Given the description of an element on the screen output the (x, y) to click on. 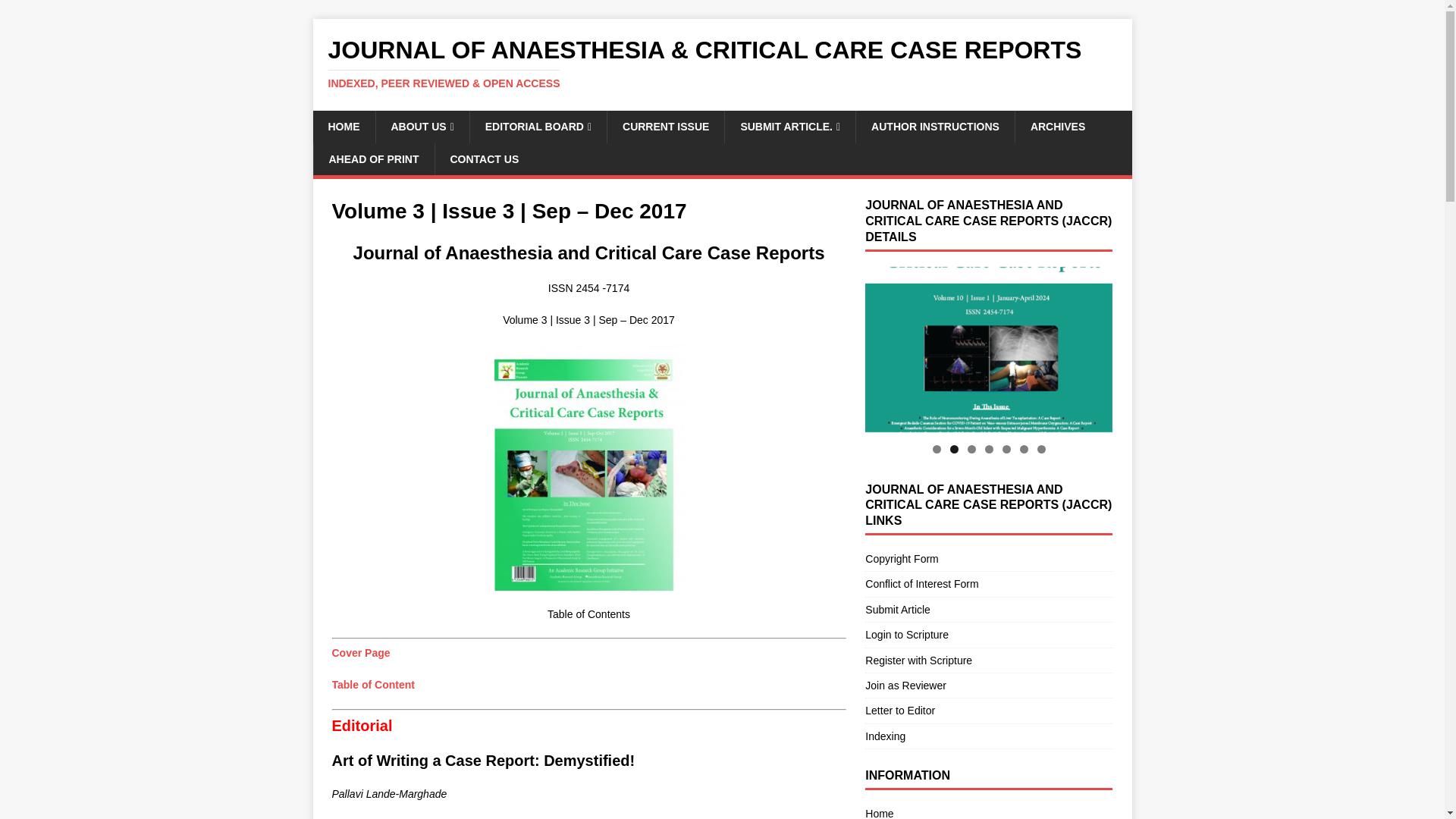
jan 2024 jaccr (988, 349)
ARCHIVES (1057, 126)
CONTACT US (483, 159)
Table of Content (372, 684)
HOME (343, 126)
EDITORIAL BOARD (537, 126)
Cover Page (360, 653)
AHEAD OF PRINT (373, 159)
AUTHOR INSTRUCTIONS (935, 126)
SUBMIT ARTICLE. (789, 126)
CURRENT ISSUE (665, 126)
ABOUT US (421, 126)
